Given the description of an element on the screen output the (x, y) to click on. 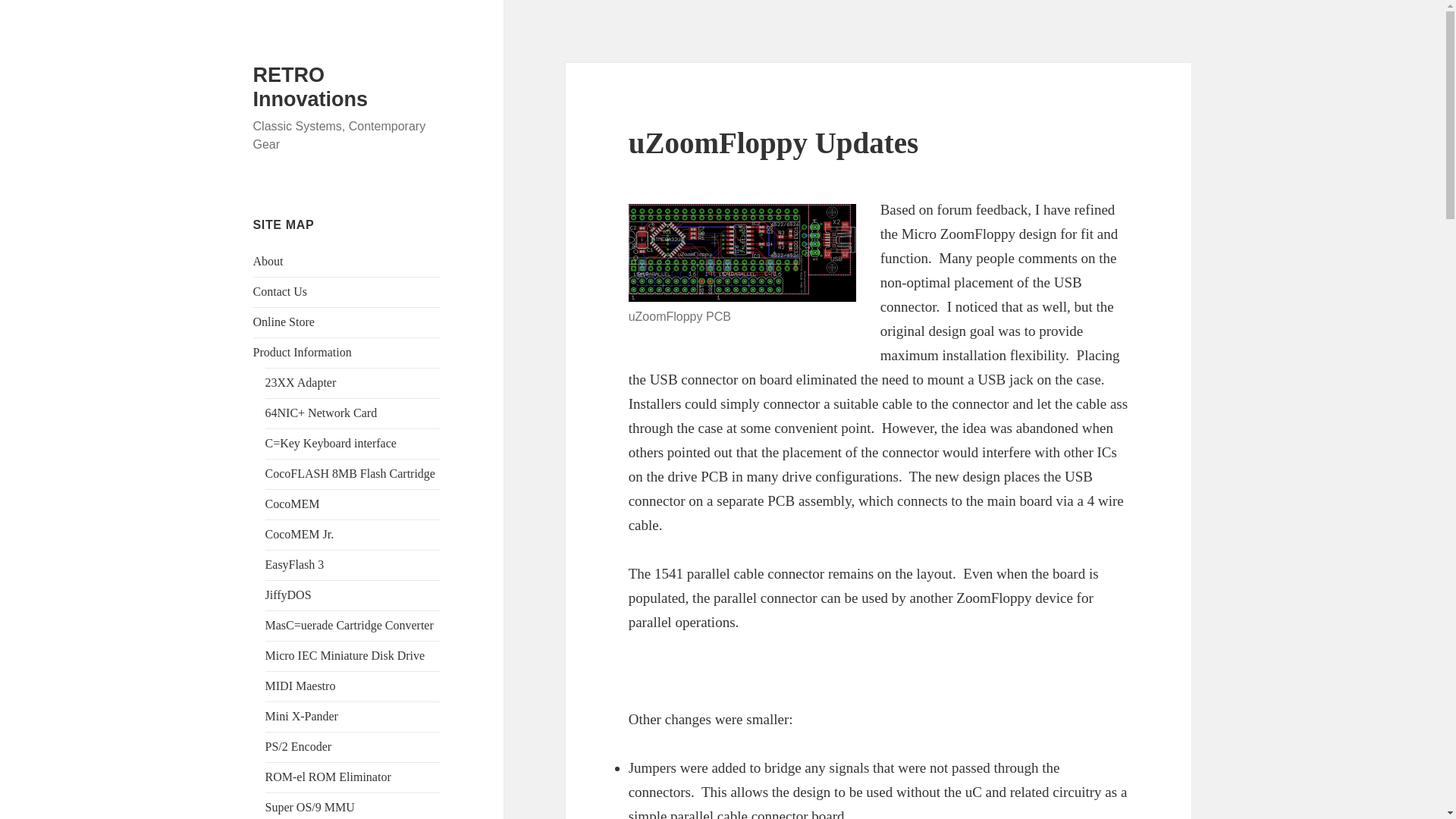
23XX Adapter (300, 382)
MIDI Maestro (300, 685)
RETRO Innovations (310, 86)
About (268, 260)
Mini X-Pander (300, 716)
ROM-el ROM Eliminator (327, 776)
CocoMEM (292, 503)
CocoMEM Jr. (299, 533)
uZoomFloppy PCB (742, 252)
Online Store (283, 321)
